Given the description of an element on the screen output the (x, y) to click on. 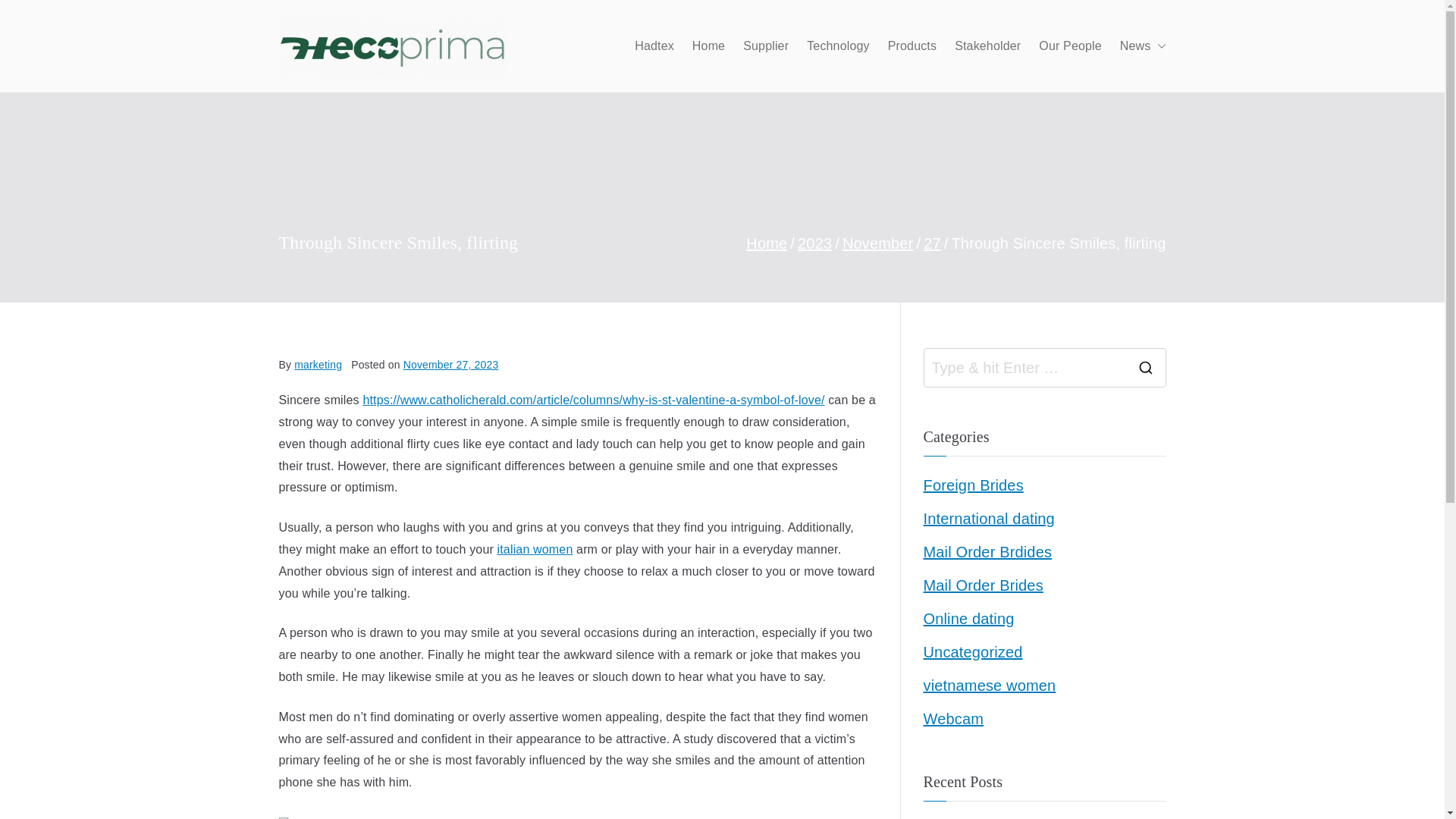
Home (709, 46)
Hadtex (654, 46)
November (878, 243)
Products (912, 46)
27 (931, 243)
Stakeholder (987, 46)
Home (766, 243)
November 27, 2023 (451, 364)
Foreign Brides (973, 484)
italian women (535, 549)
